Given the description of an element on the screen output the (x, y) to click on. 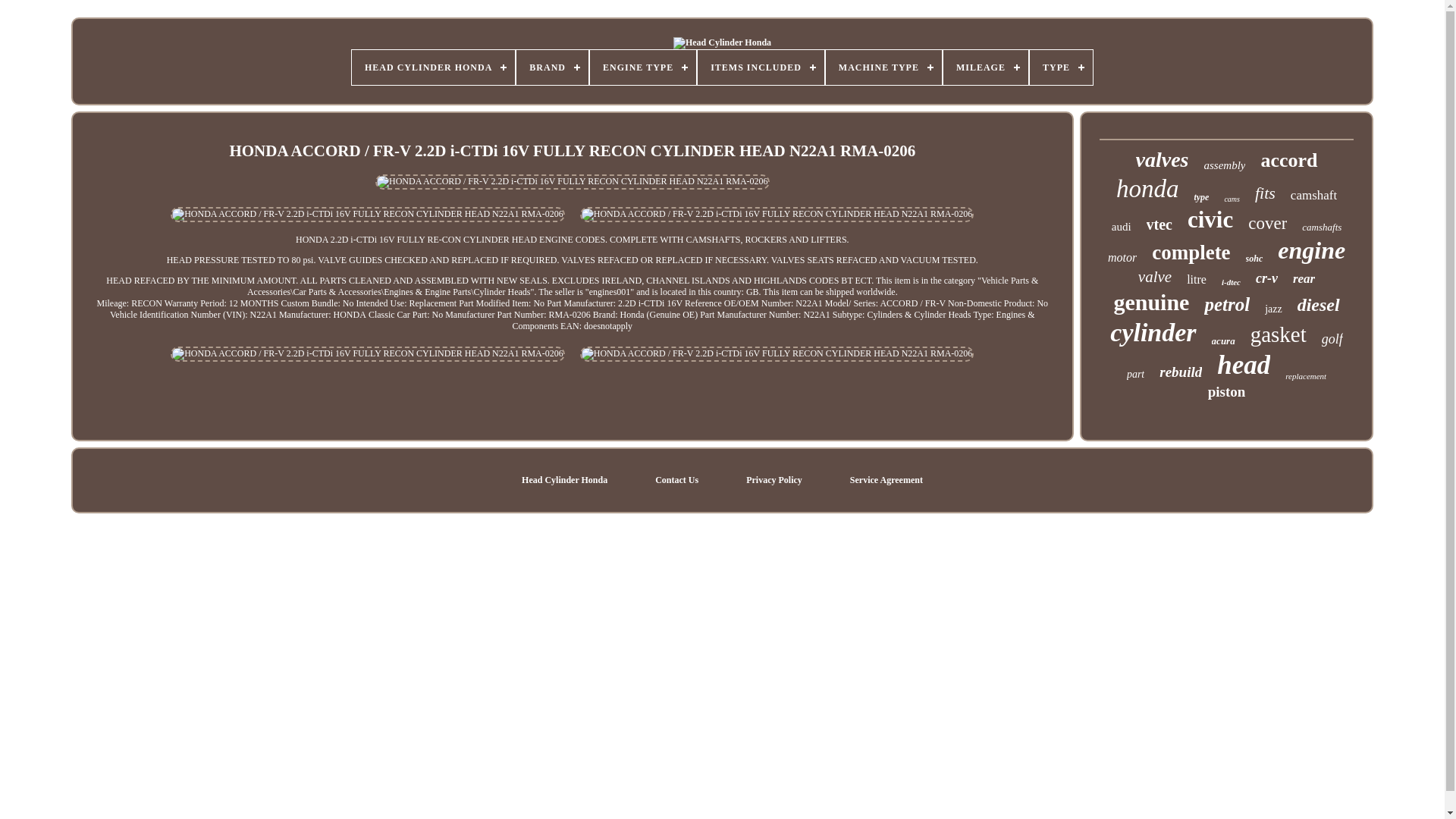
HEAD CYLINDER HONDA (433, 67)
BRAND (552, 67)
ITEMS INCLUDED (760, 67)
ENGINE TYPE (642, 67)
